Given the description of an element on the screen output the (x, y) to click on. 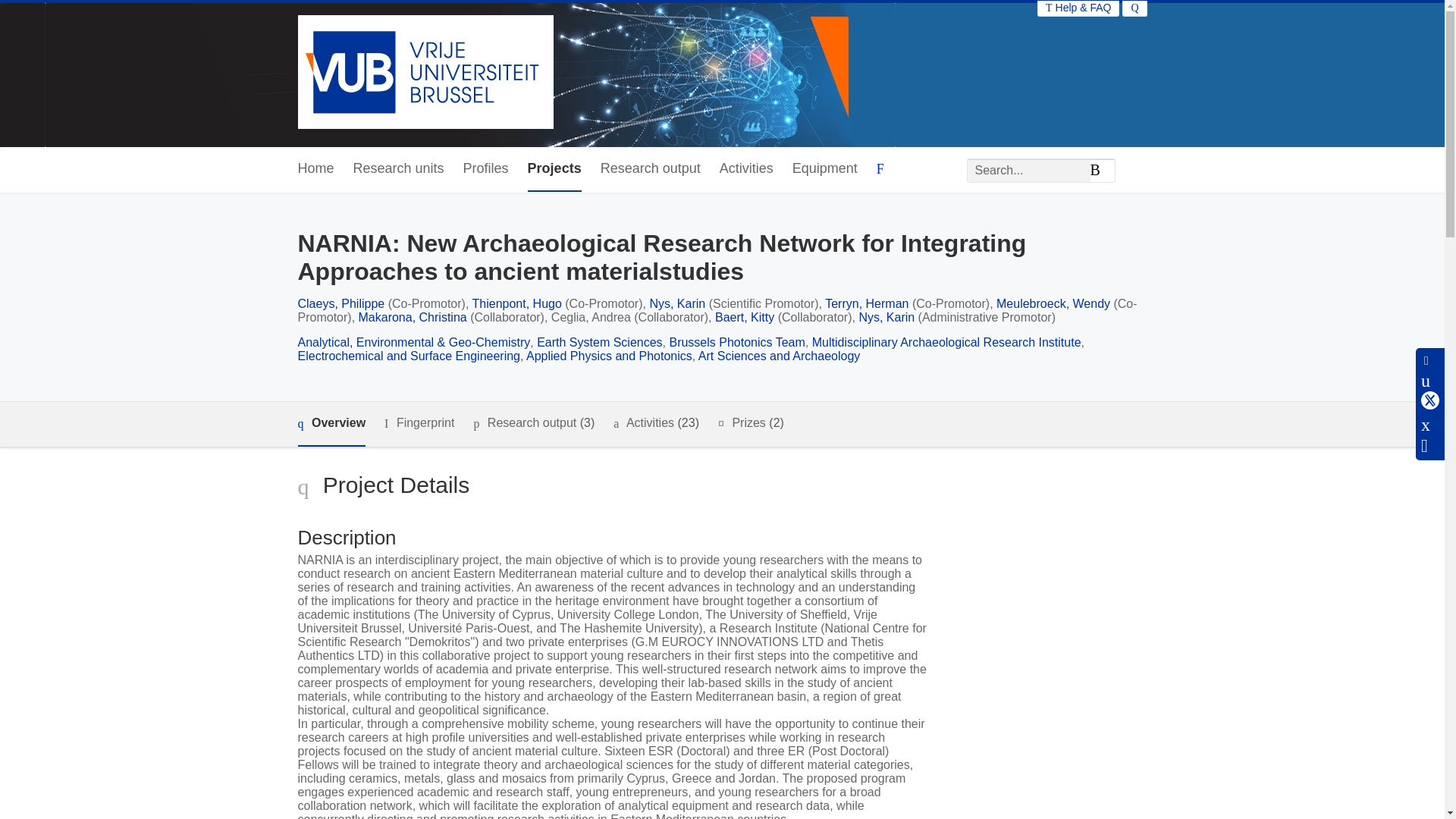
Fingerprint (419, 423)
Meulebroeck, Wendy (1052, 303)
Baert, Kitty (744, 317)
Research output (649, 169)
Equipment (824, 169)
Terryn, Herman (866, 303)
Brussels Photonics Team (736, 341)
Projects (553, 169)
Activities (746, 169)
Nys, Karin (676, 303)
